Given the description of an element on the screen output the (x, y) to click on. 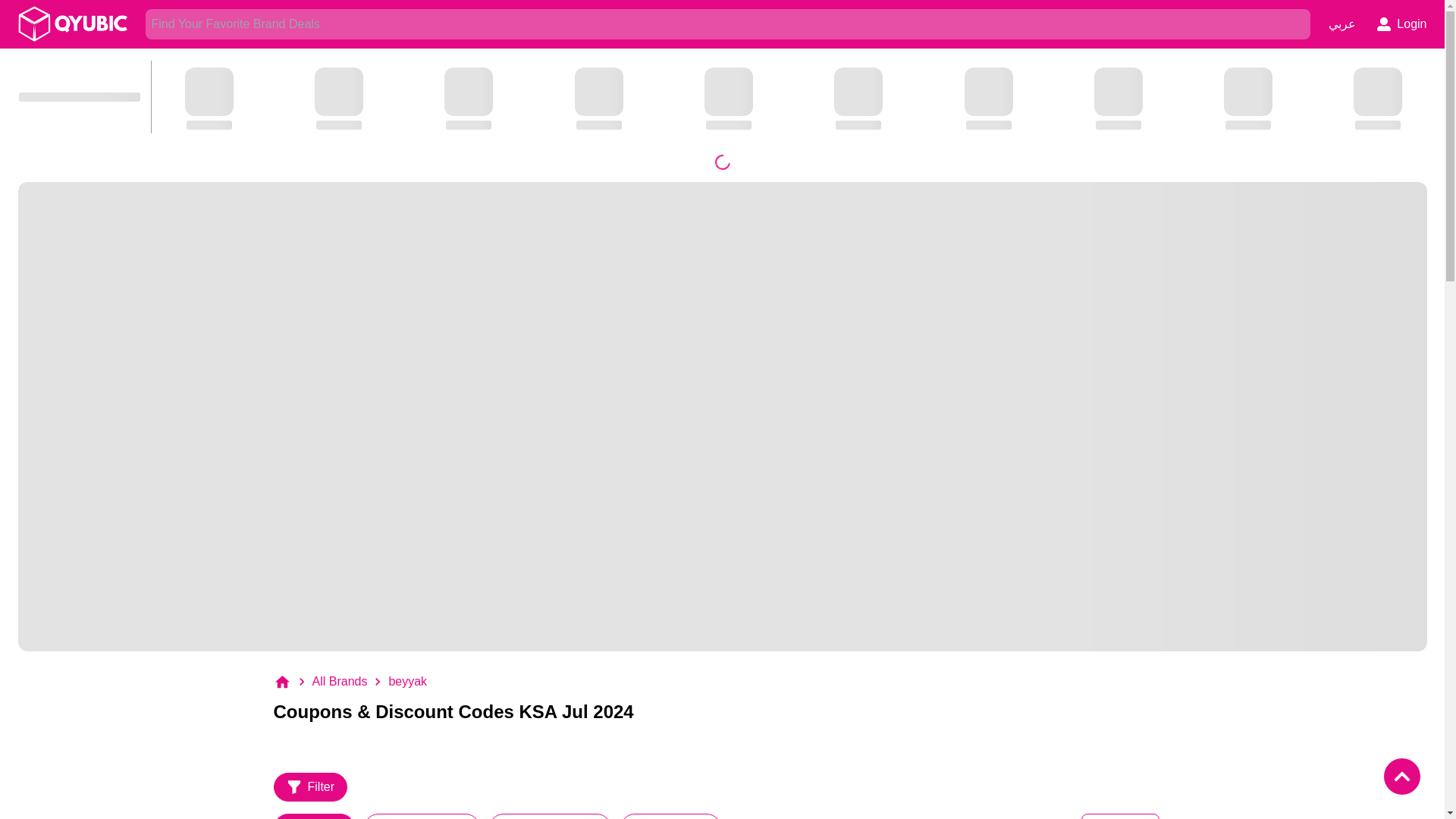
Filter (310, 787)
Login (1401, 24)
qyubic logo white (72, 23)
Sort By (1119, 816)
